Given the description of an element on the screen output the (x, y) to click on. 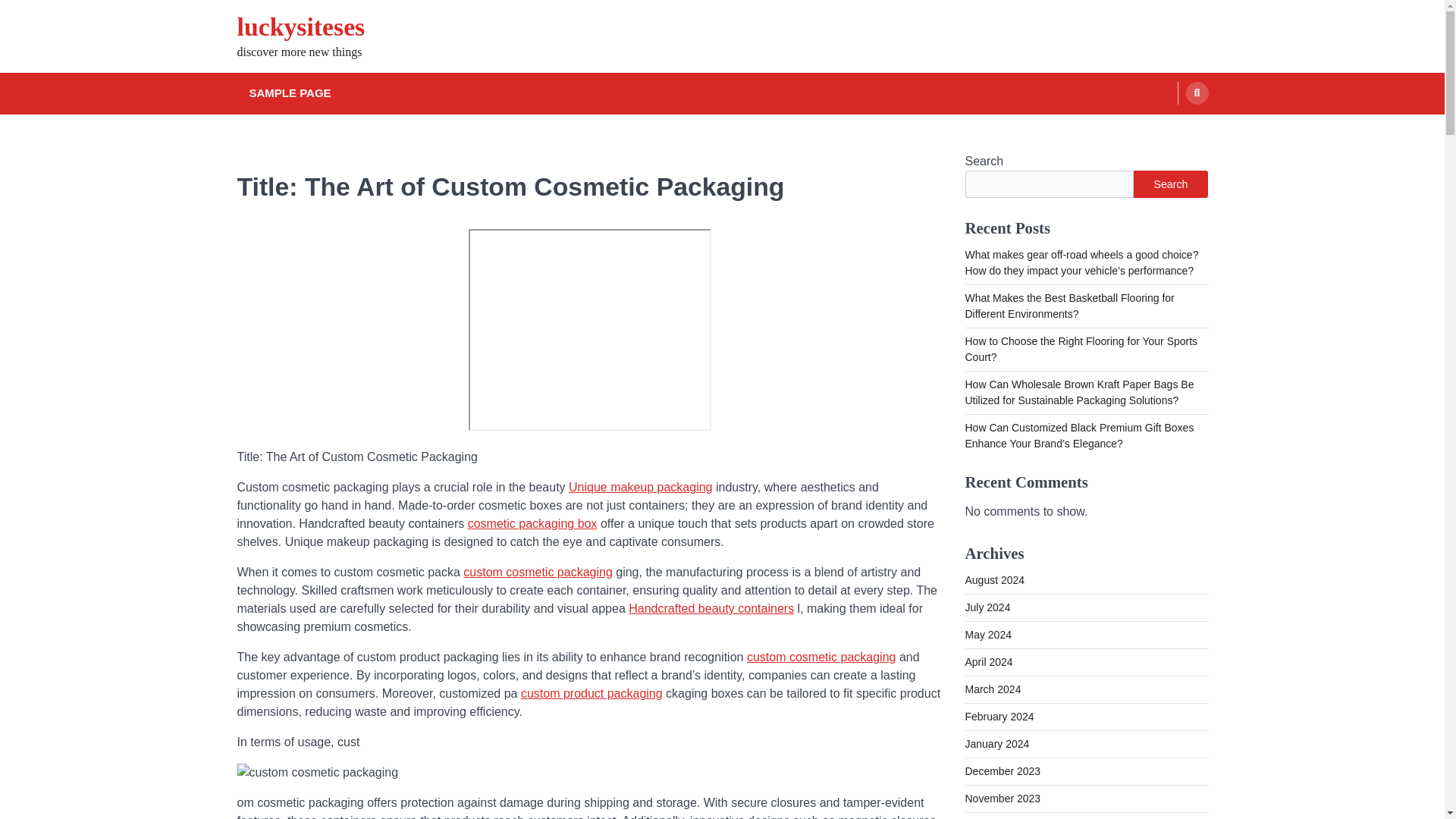
cosmetic packaging box (531, 522)
Search (1168, 128)
April 2024 (987, 662)
November 2023 (1002, 798)
January 2024 (996, 743)
custom product packaging (591, 693)
Search (1170, 184)
August 2024 (994, 580)
March 2024 (991, 689)
